Given the description of an element on the screen output the (x, y) to click on. 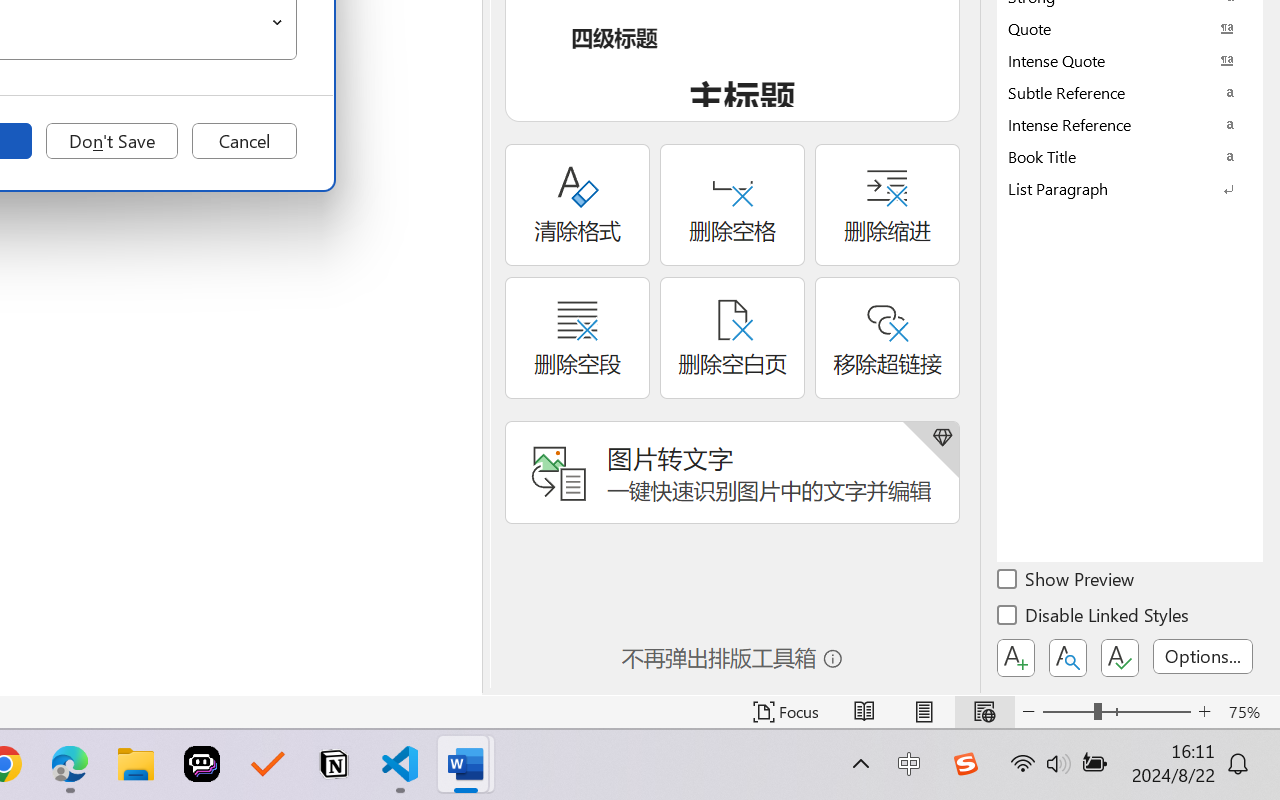
Notion (333, 764)
Quote (1130, 28)
Zoom Out (1067, 712)
Intense Quote (1130, 60)
